Given the description of an element on the screen output the (x, y) to click on. 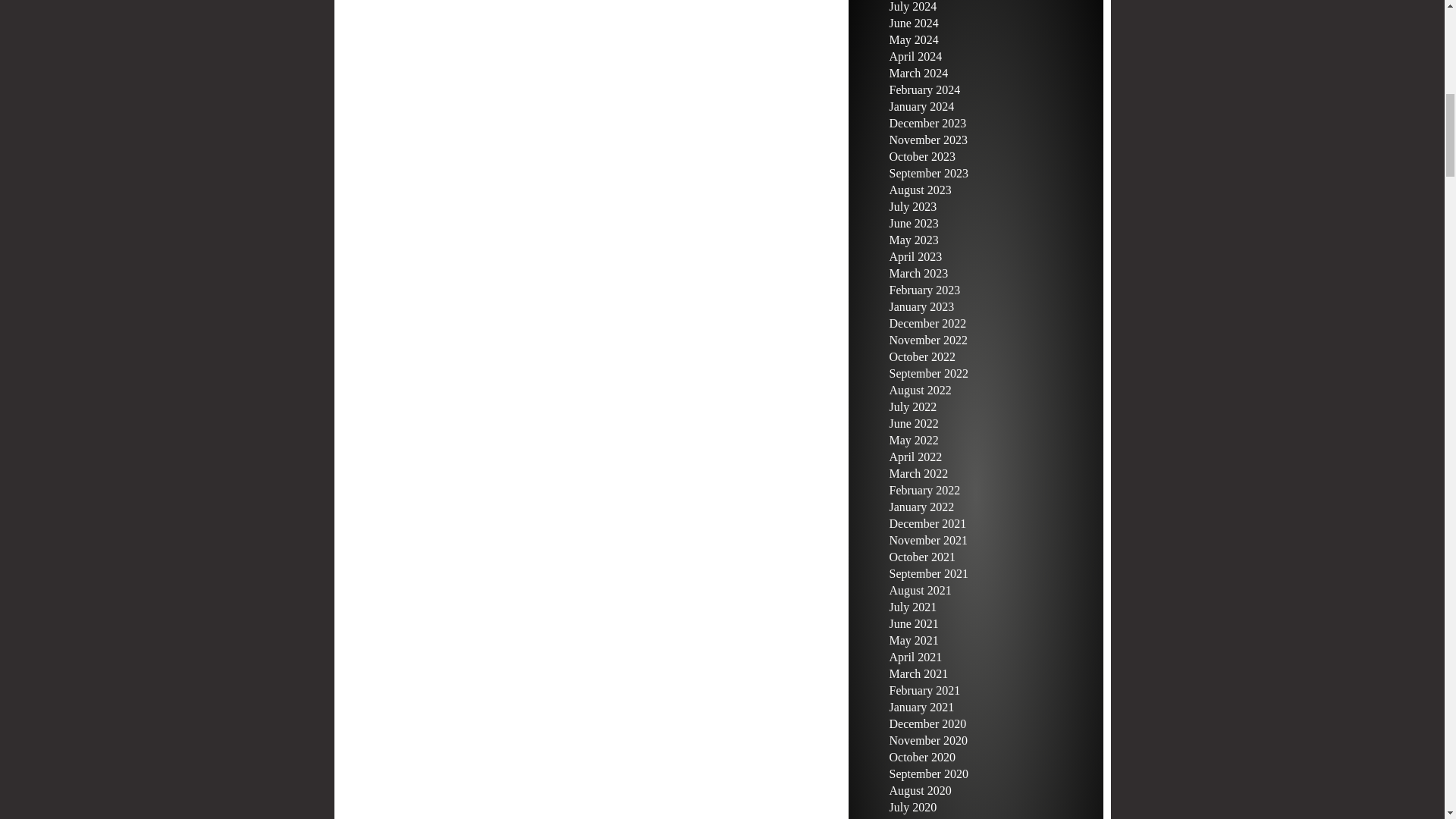
July 2023 (912, 205)
August 2023 (919, 189)
April 2024 (915, 56)
January 2024 (920, 106)
May 2024 (912, 39)
October 2023 (921, 155)
July 2024 (912, 6)
February 2024 (923, 89)
June 2024 (912, 22)
December 2023 (927, 123)
September 2023 (928, 173)
November 2023 (928, 139)
March 2024 (917, 72)
